Given the description of an element on the screen output the (x, y) to click on. 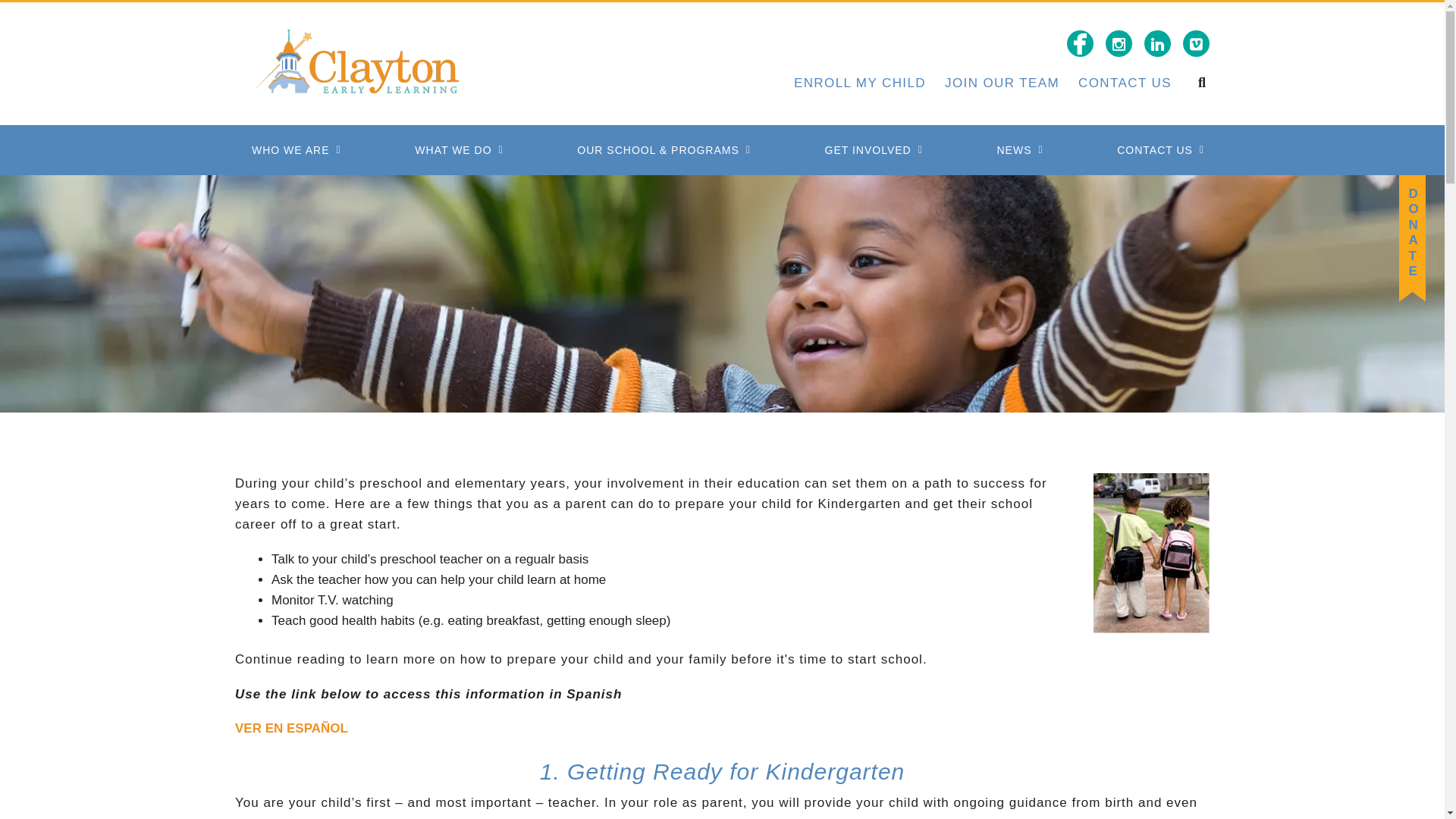
ENROLL MY CHILD (859, 83)
JOIN OUR TEAM (1001, 83)
WHO WE ARE (291, 150)
CONTACT US (1125, 83)
WHAT WE DO (453, 150)
logo (357, 63)
